Given the description of an element on the screen output the (x, y) to click on. 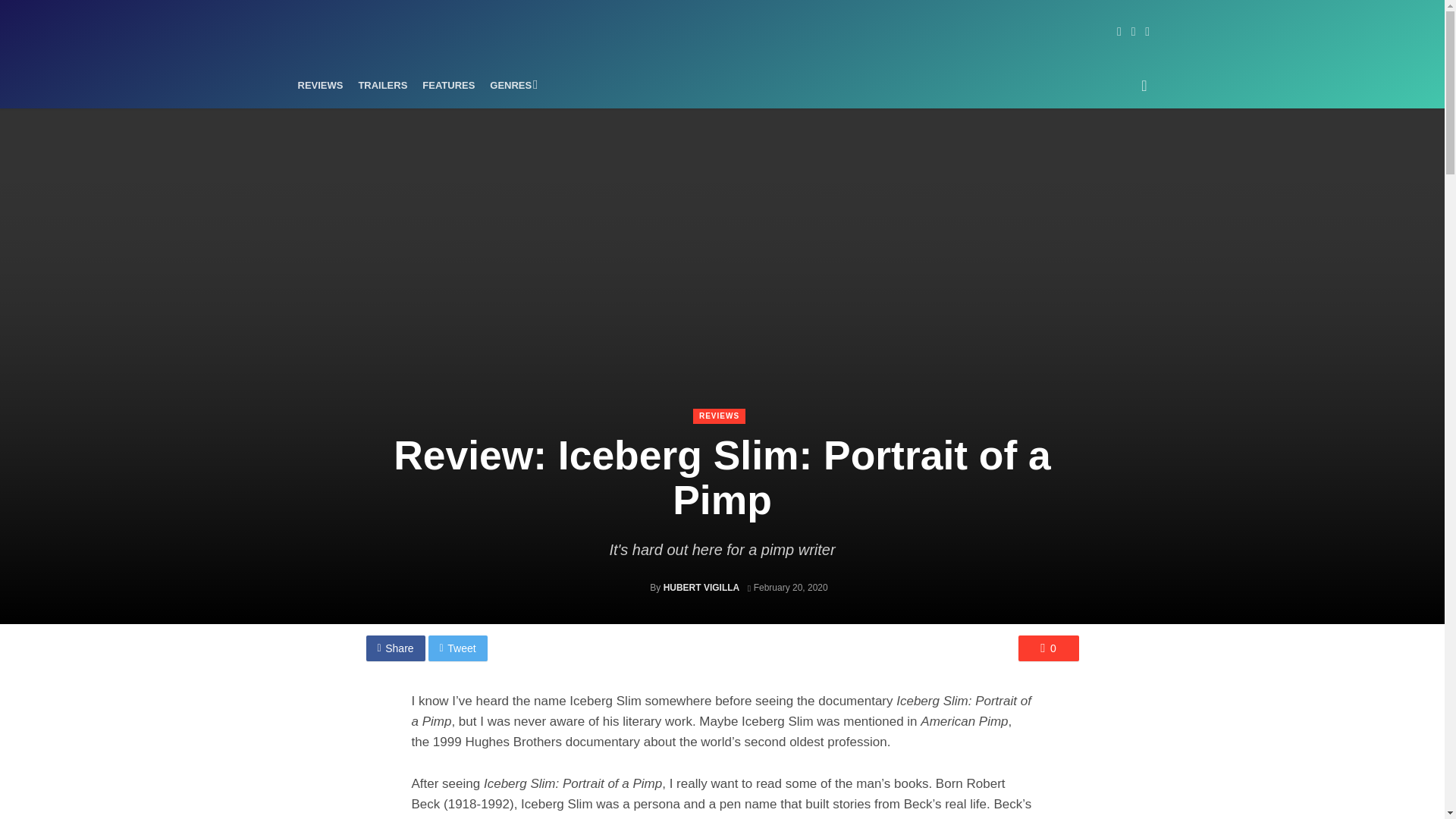
FEATURES (447, 85)
TRAILERS (382, 85)
GENRES (511, 85)
Share on Twitter (457, 647)
Share (395, 647)
February 20, 2020 at 1:17 pm (788, 587)
REVIEWS (719, 416)
0 Comments (1047, 647)
Tweet (457, 647)
HUBERT VIGILLA (701, 587)
